Given the description of an element on the screen output the (x, y) to click on. 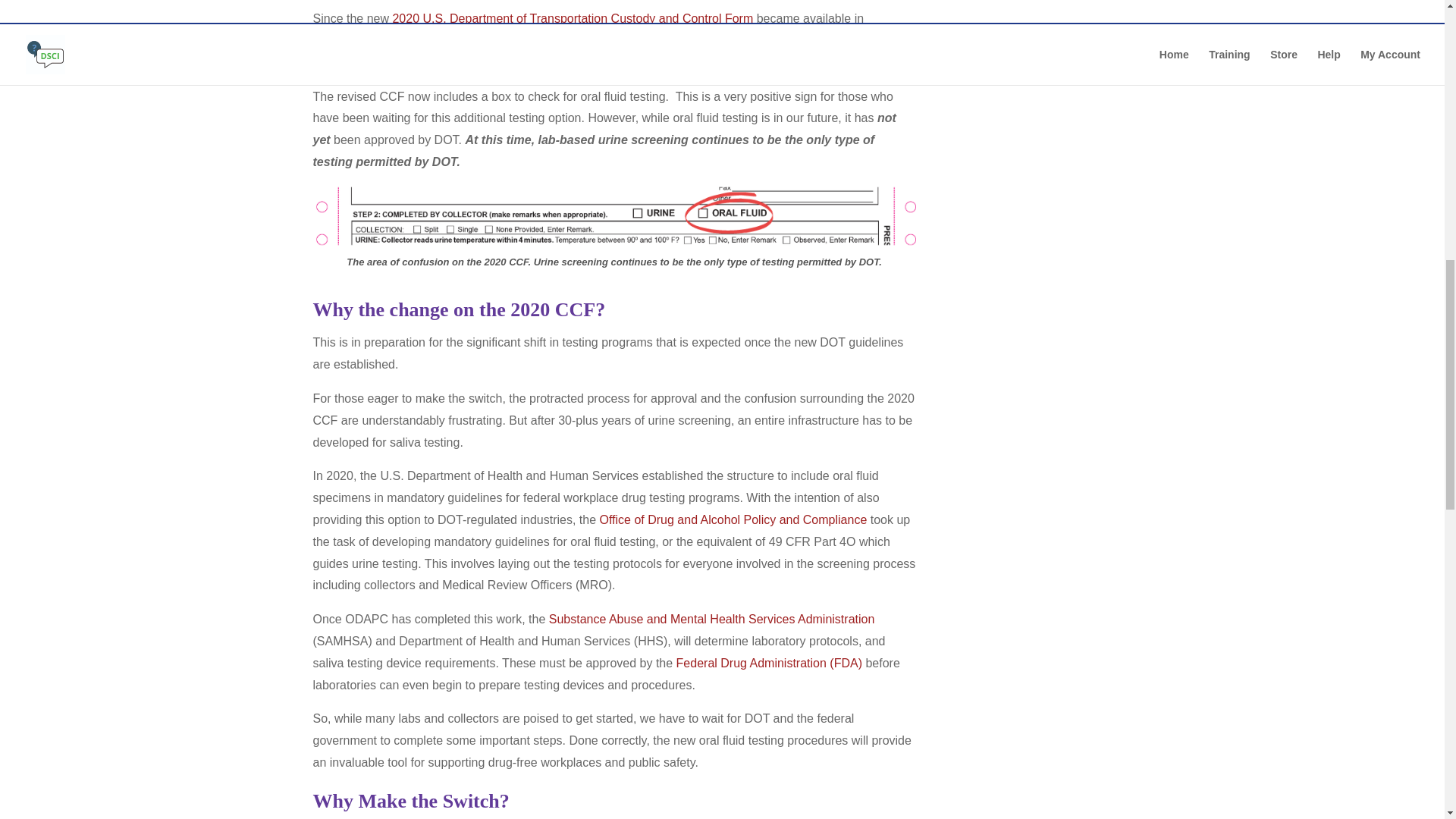
Office of Drug and Alcohol Policy and Compliance (732, 519)
Substance Abuse and Mental Health Services Administration (711, 618)
